Given the description of an element on the screen output the (x, y) to click on. 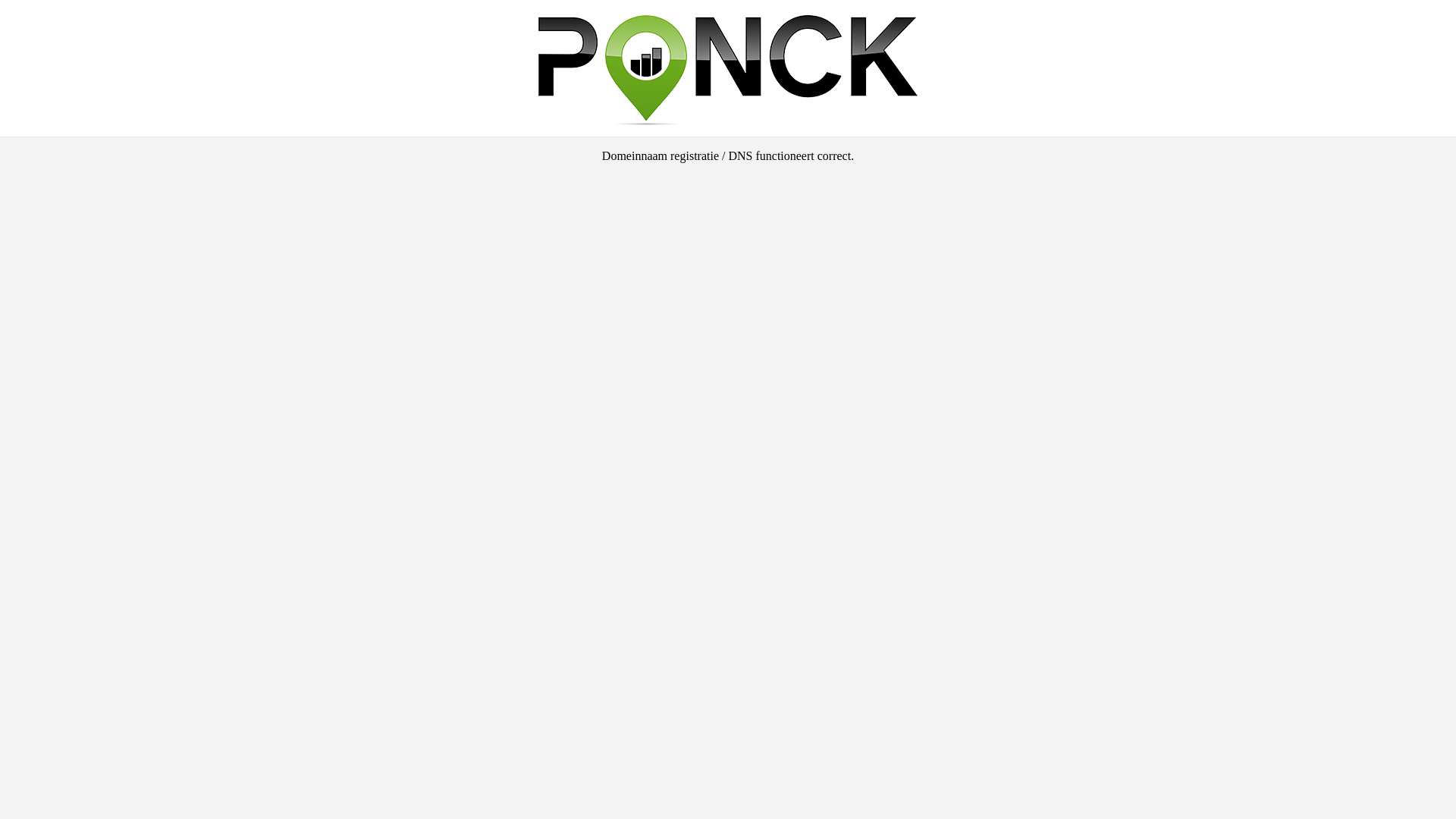
PONCK internet marketing Element type: hover (727, 120)
